Given the description of an element on the screen output the (x, y) to click on. 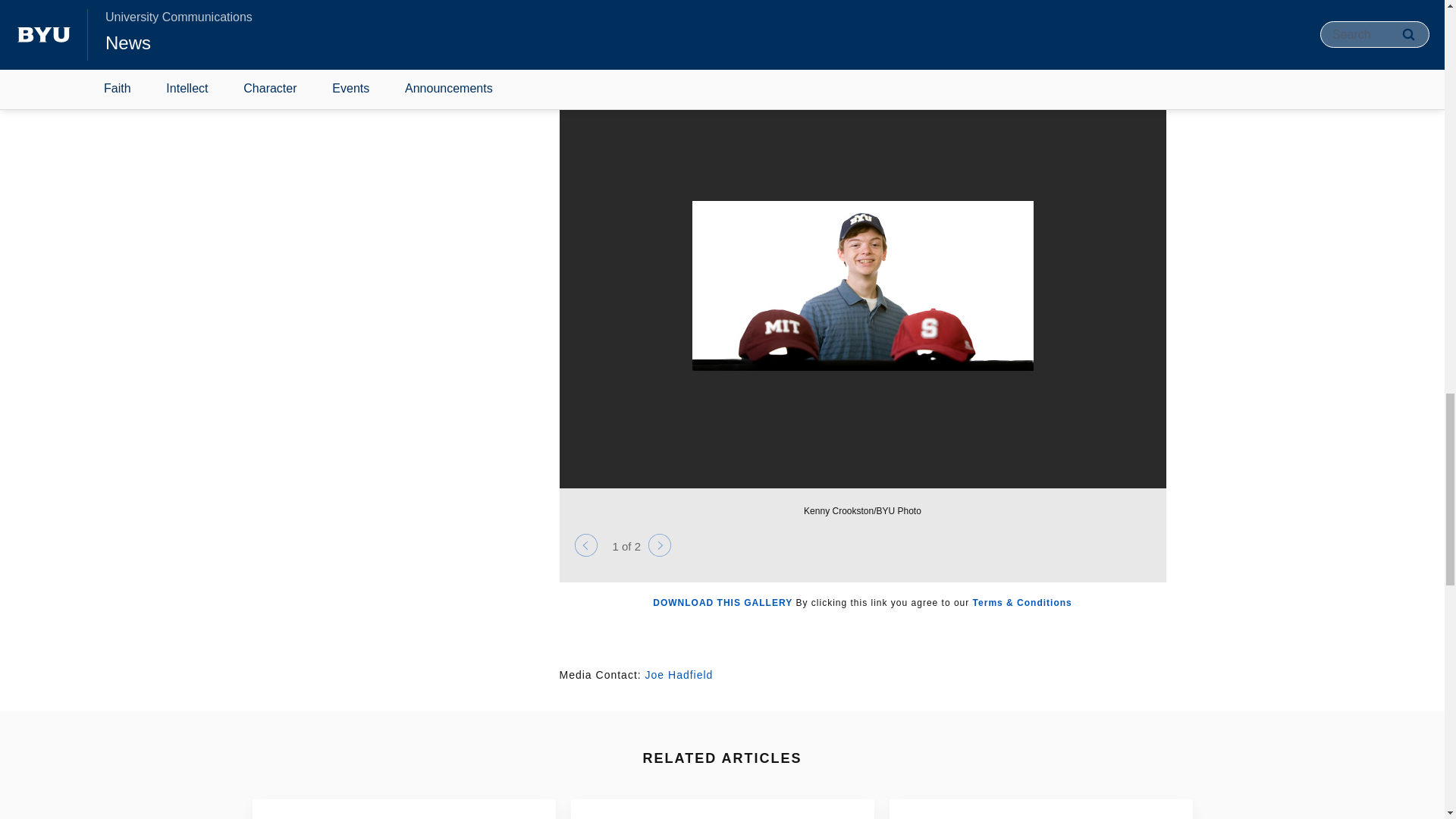
DOWNLOAD THIS GALLERY (722, 602)
Joe Hadfield (679, 674)
intramural sports participation (740, 4)
